Given the description of an element on the screen output the (x, y) to click on. 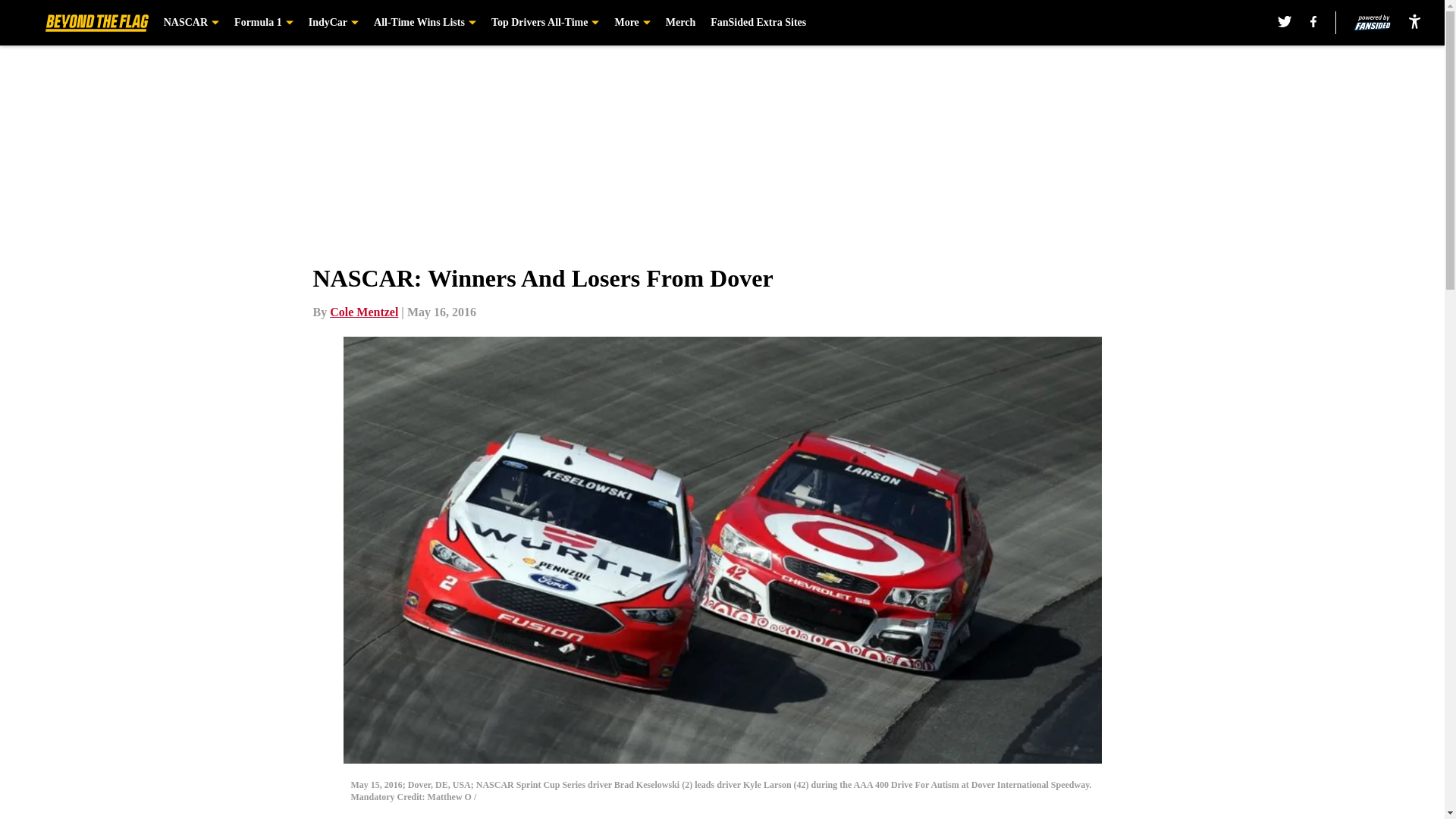
Cole Mentzel (363, 311)
Merch (680, 22)
FanSided Extra Sites (758, 22)
